Given the description of an element on the screen output the (x, y) to click on. 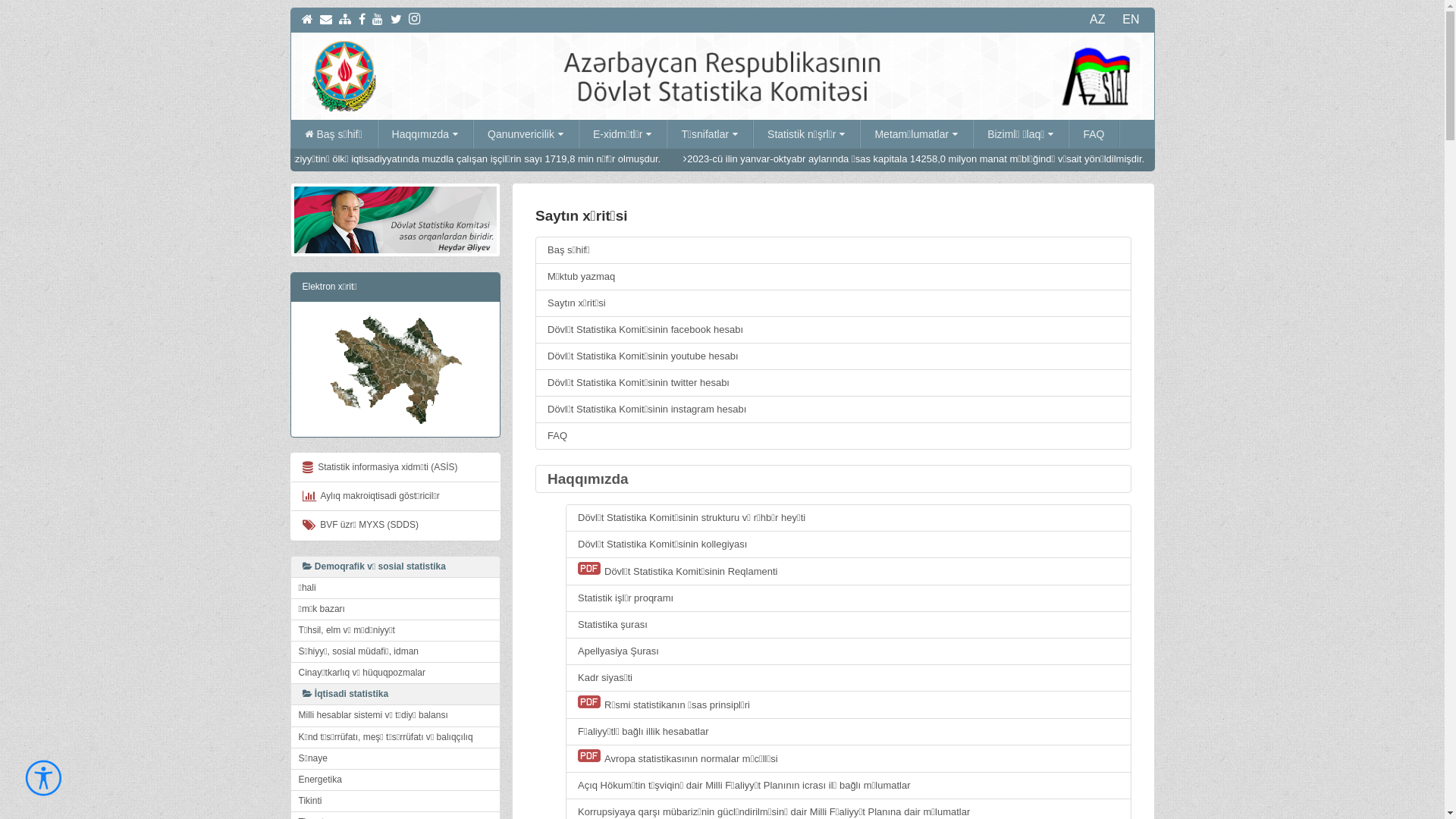
Qanunvericilik Element type: text (525, 133)
Tikinti Element type: text (394, 801)
FAQ Element type: text (1093, 133)
Energetika Element type: text (394, 779)
FAQ Element type: text (833, 435)
AZ Element type: text (1096, 18)
EN Element type: text (1130, 18)
